Given the description of an element on the screen output the (x, y) to click on. 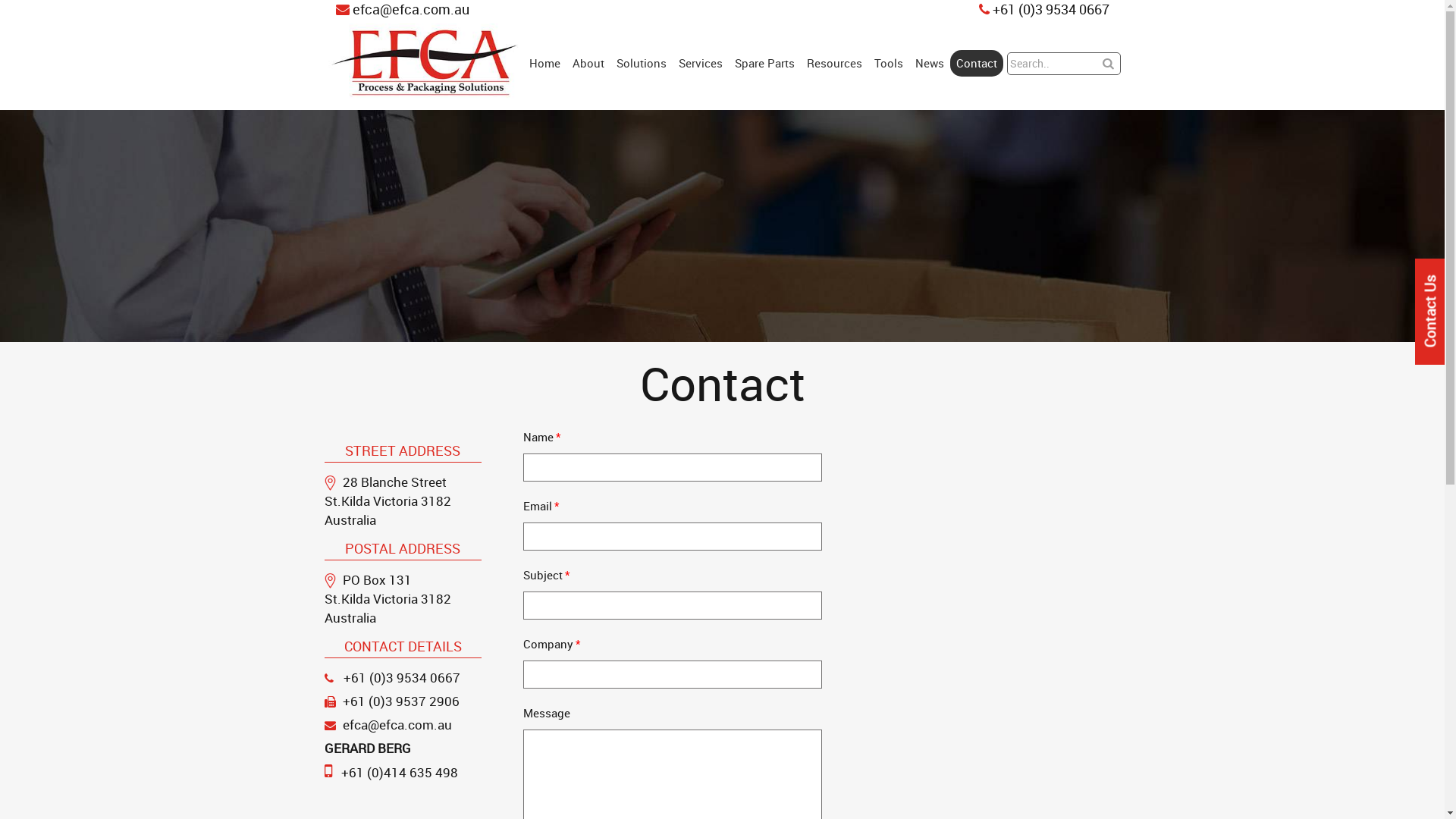
Contact Element type: text (976, 63)
+61 (0)3 9534 0667 Element type: text (400, 677)
+61 (0)414 635 498 Element type: text (399, 772)
About Element type: text (588, 63)
Services Element type: text (700, 63)
efca@efca.com.au Element type: text (396, 724)
Home Element type: text (544, 63)
News Element type: text (929, 63)
Resources Element type: text (834, 63)
+61 (0)3 9534 0667 Element type: text (1043, 9)
efca@efca.com.au Element type: text (401, 9)
Solutions Element type: text (641, 63)
Spare Parts Element type: text (764, 63)
Tools Element type: text (888, 63)
